Given the description of an element on the screen output the (x, y) to click on. 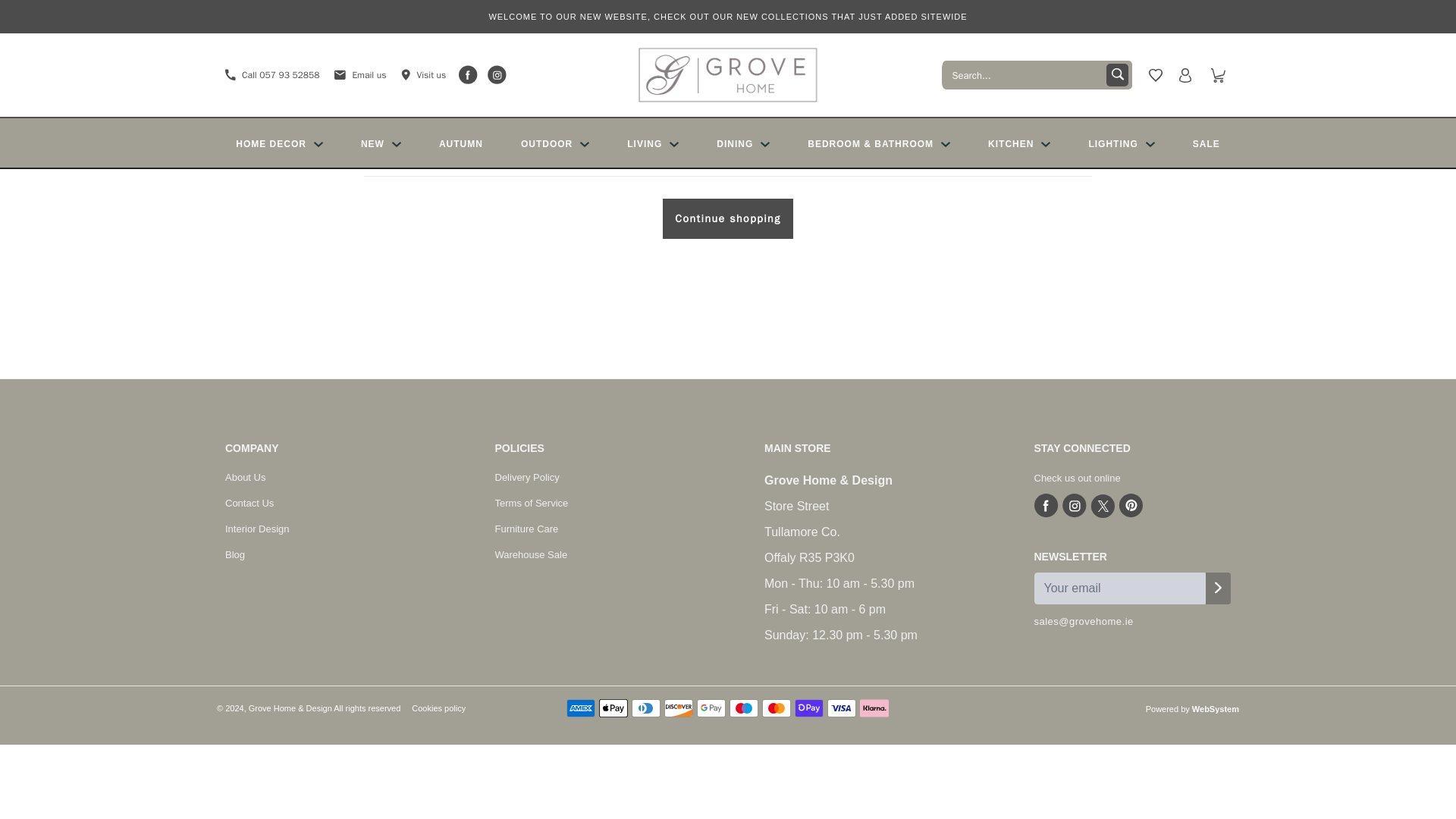
Email us (351, 74)
Visit us (415, 74)
Call 057 93 52858 (271, 74)
HOME DECOR (279, 142)
